Given the description of an element on the screen output the (x, y) to click on. 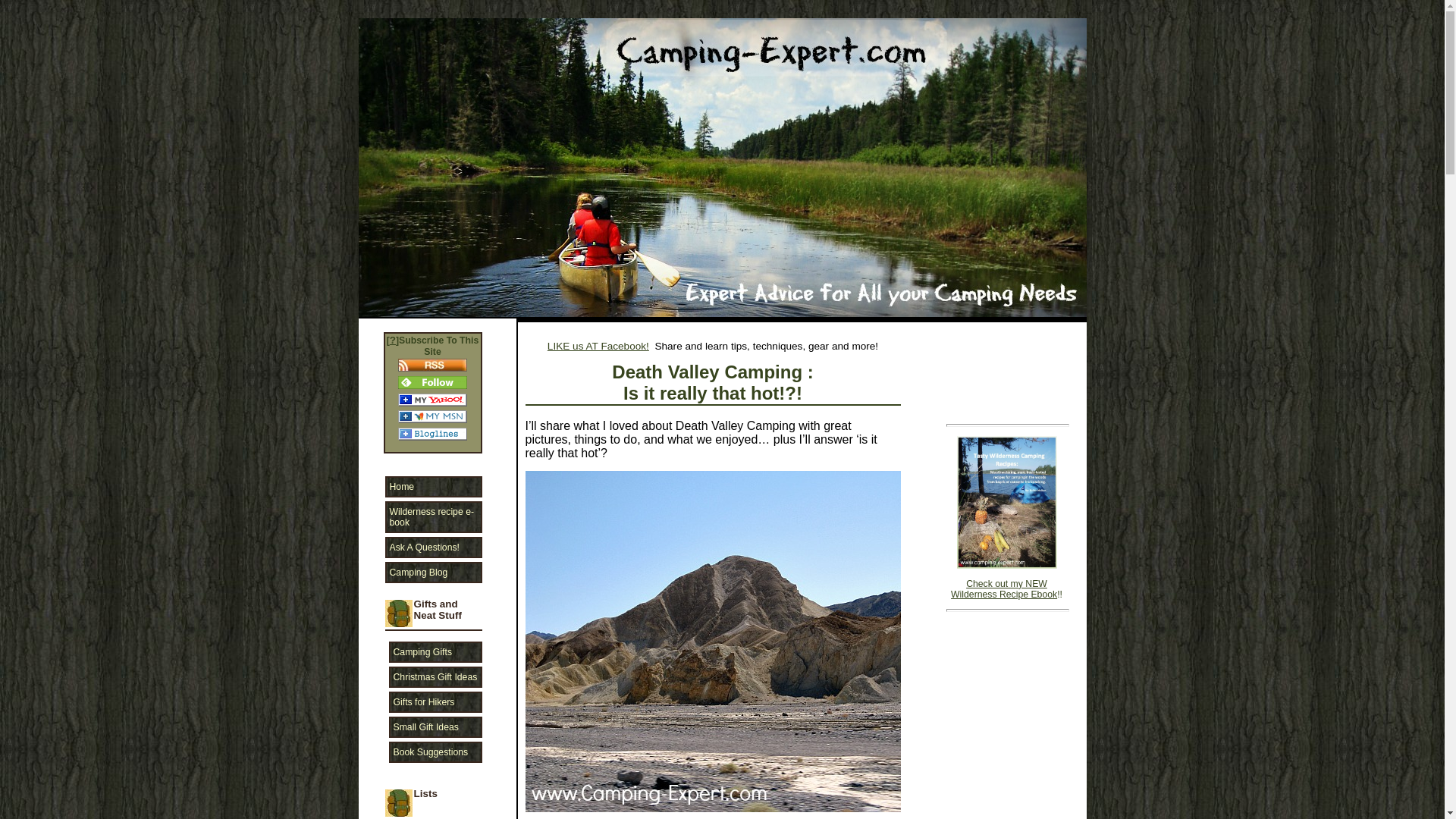
Home (433, 486)
Camping Blog (433, 572)
Gifts for Hikers (434, 701)
LIKE us AT Facebook! (598, 346)
Ask A Questions! (433, 547)
Christmas Gift Ideas (434, 676)
Small Gift Ideas (434, 726)
Wilderness recipe e-book (433, 517)
Book Suggestions (434, 752)
Camping Gifts (434, 651)
